Given the description of an element on the screen output the (x, y) to click on. 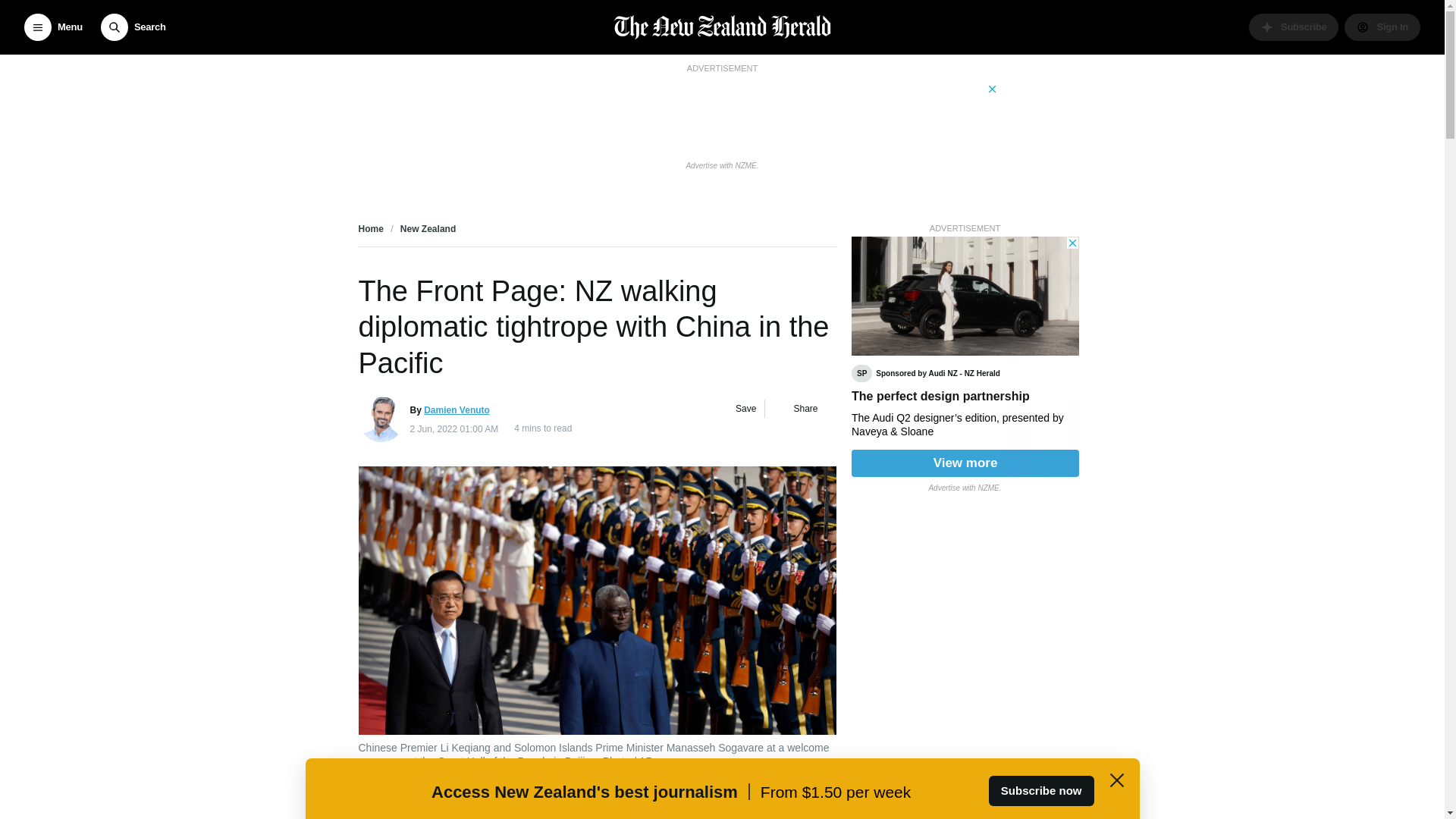
Subscribe (1294, 26)
3rd party ad content (964, 356)
3rd party ad content (721, 115)
Manage your account (1382, 26)
Search (132, 26)
Sign In (1382, 26)
Menu (53, 26)
